Given the description of an element on the screen output the (x, y) to click on. 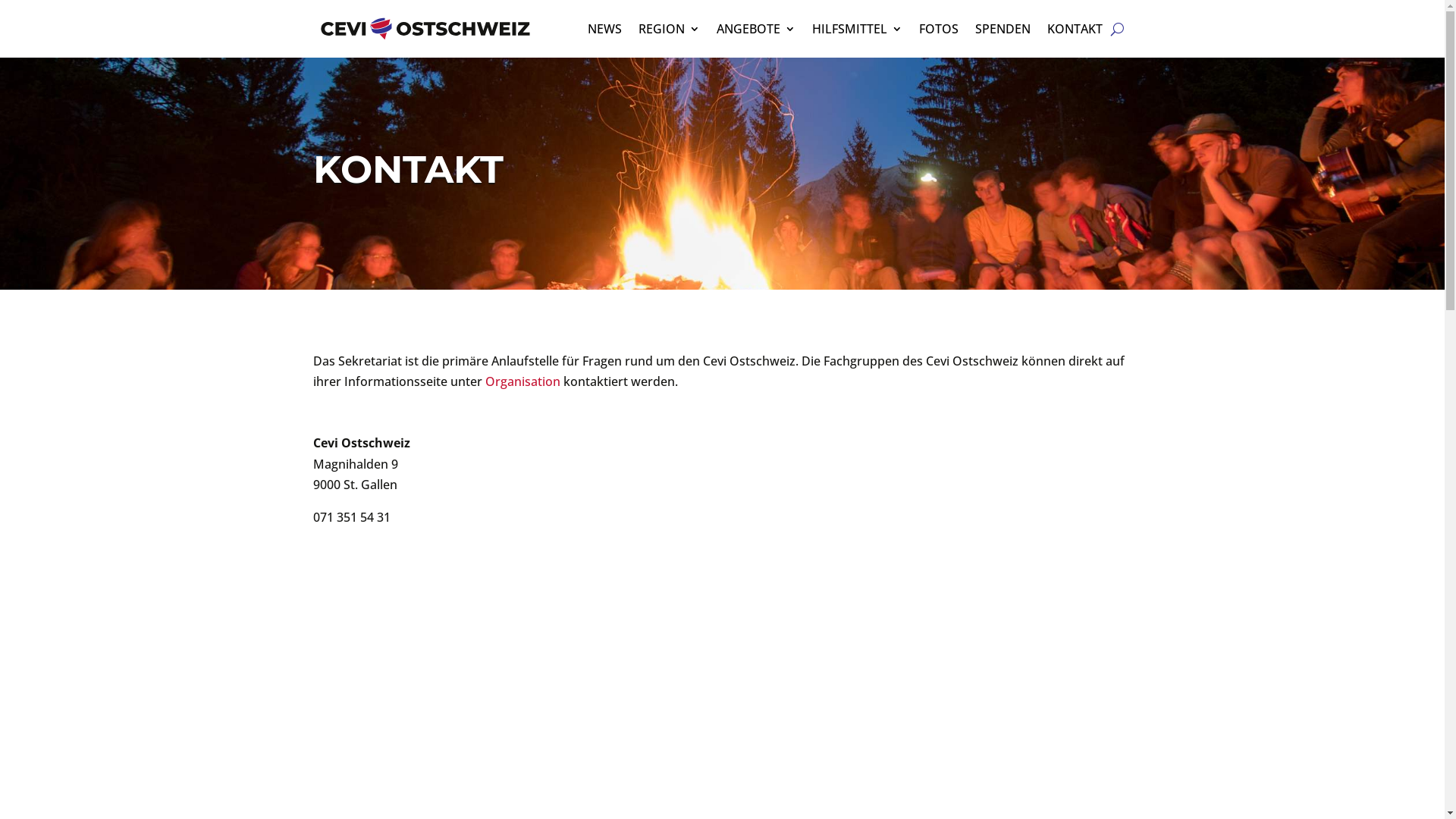
Organisation Element type: text (522, 381)
REGION Element type: text (668, 28)
KONTAKT Element type: text (1073, 28)
FOTOS Element type: text (938, 28)
ANGEBOTE Element type: text (754, 28)
NEWS Element type: text (603, 28)
SPENDEN Element type: text (1002, 28)
HILFSMITTEL Element type: text (856, 28)
